Given the description of an element on the screen output the (x, y) to click on. 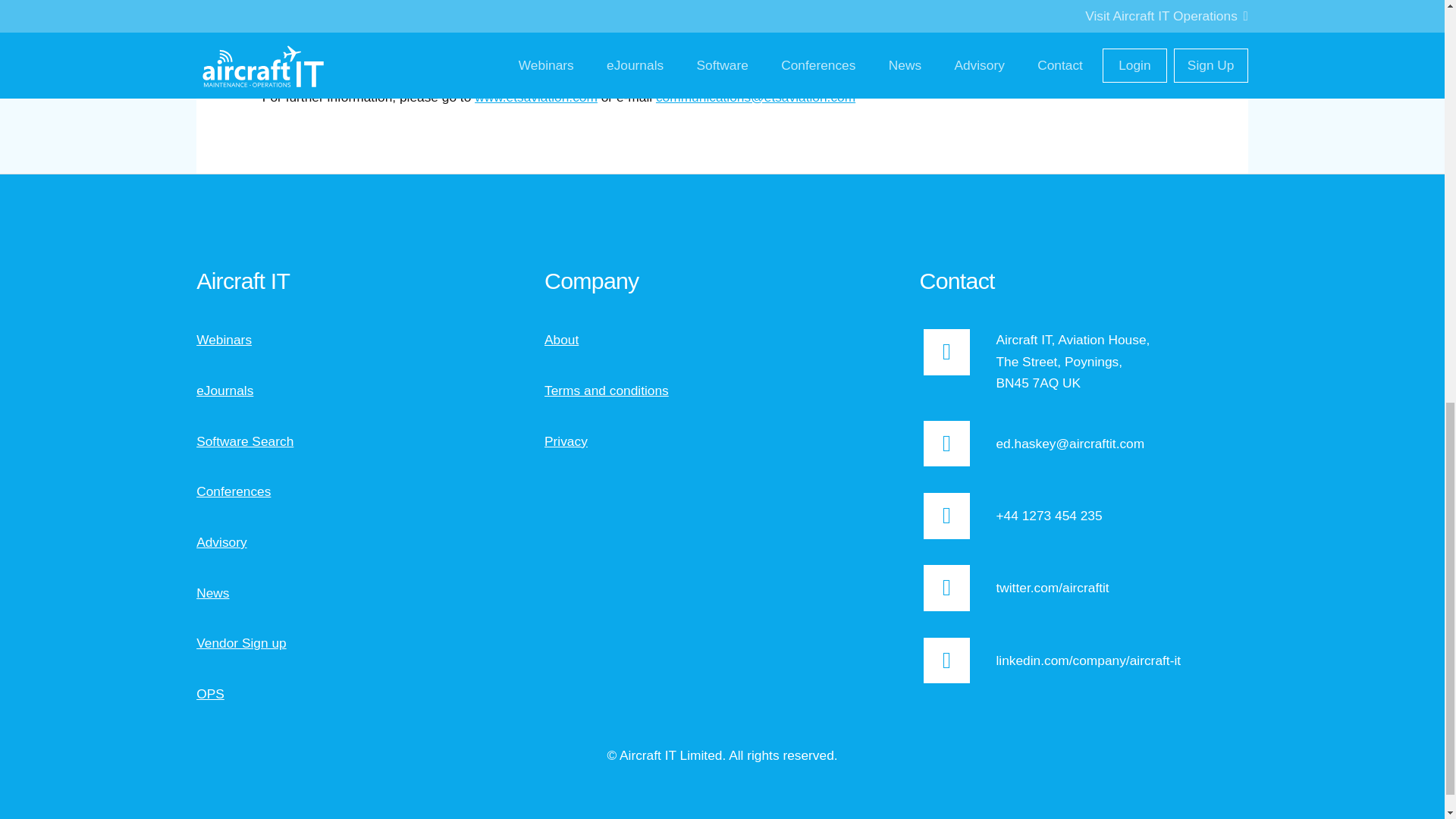
Privacy (566, 441)
Advisory (221, 541)
www.etsaviation.com (535, 96)
About (561, 339)
Terms and conditions (606, 390)
Vendor Sign up (241, 642)
eJournals (224, 390)
Conferences (233, 491)
Software Search (245, 441)
News (212, 592)
